Given the description of an element on the screen output the (x, y) to click on. 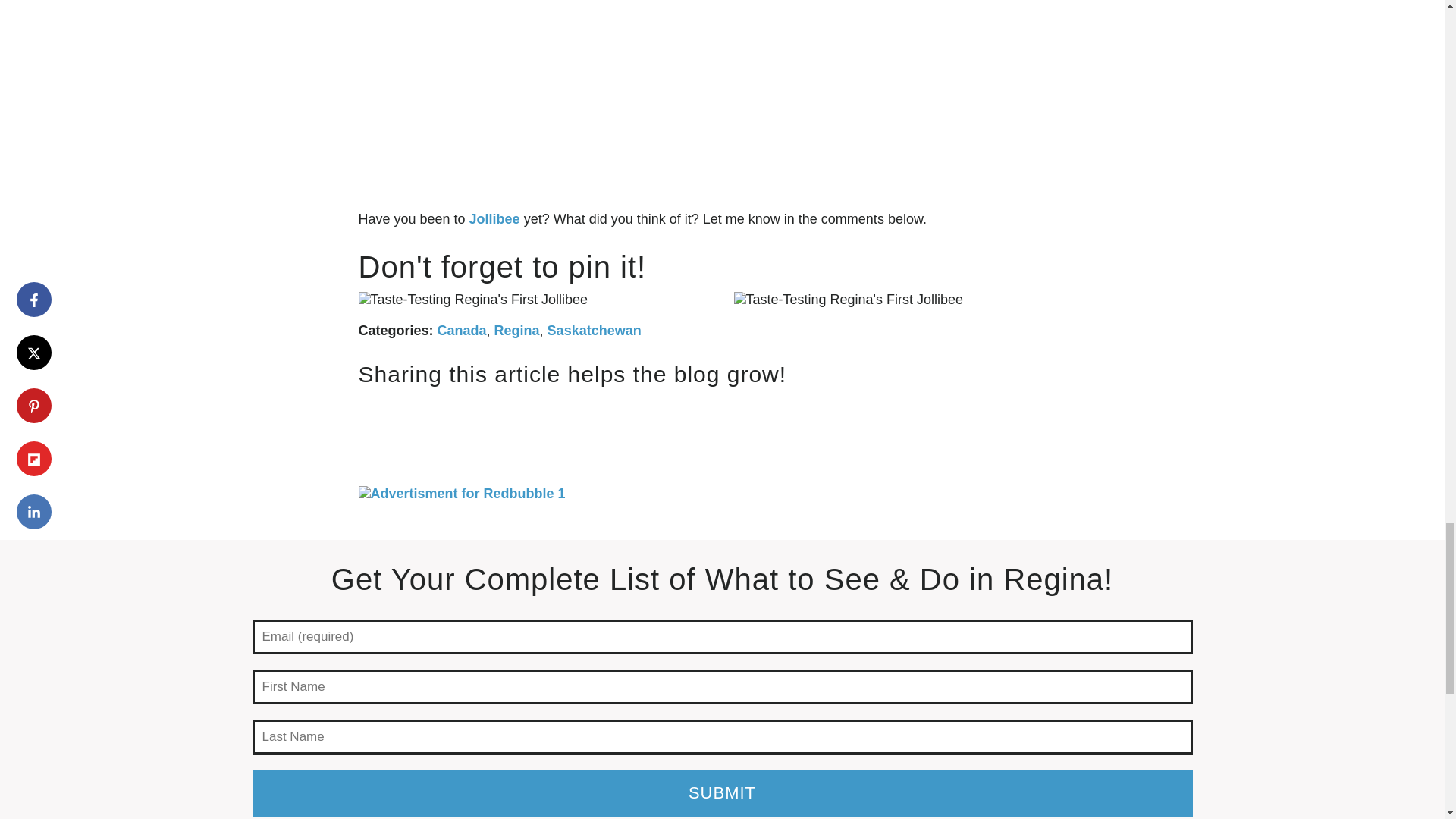
Regina (517, 330)
Submit (721, 792)
Saskatchewan (594, 330)
Submit (721, 792)
Jollibee (493, 218)
Canada (462, 330)
